Given the description of an element on the screen output the (x, y) to click on. 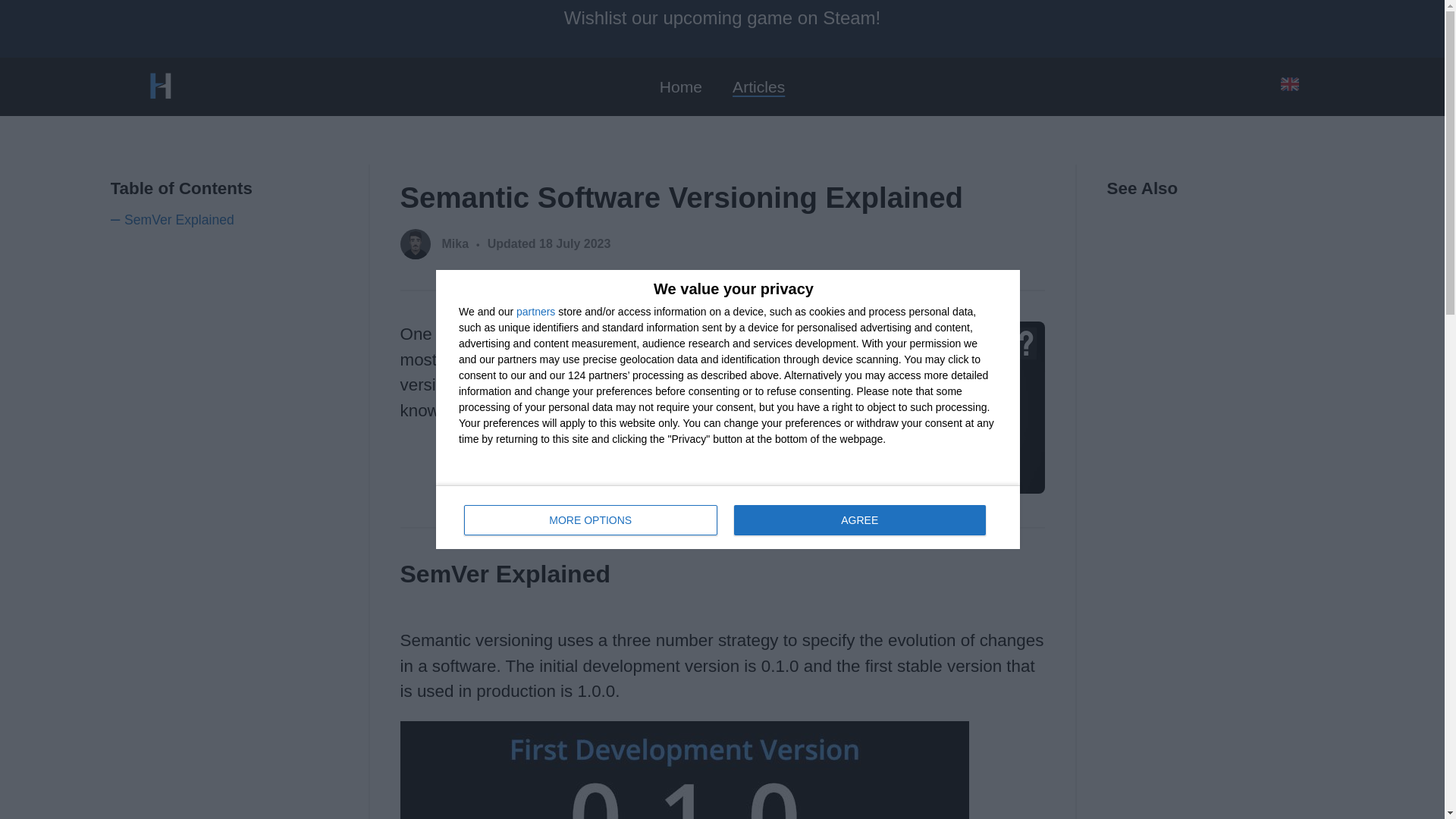
Home (680, 85)
Wishlist our upcoming game on Steam! (722, 28)
Articles (758, 85)
partners (223, 202)
See Also (727, 516)
MORE OPTIONS (535, 311)
AGREE (1220, 194)
SemVer Explained (590, 520)
